Given the description of an element on the screen output the (x, y) to click on. 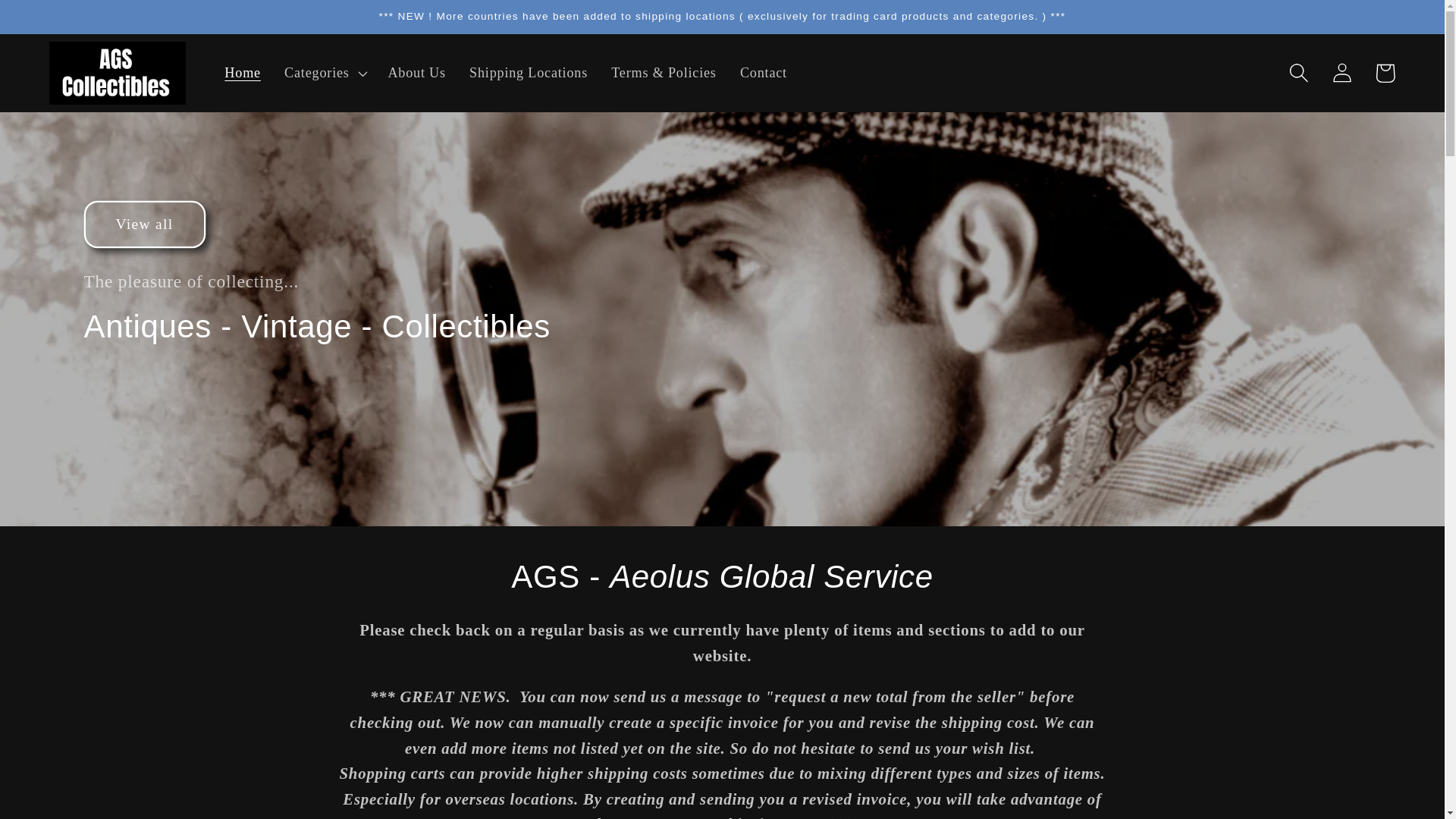
Skip to content (60, 23)
